Given the description of an element on the screen output the (x, y) to click on. 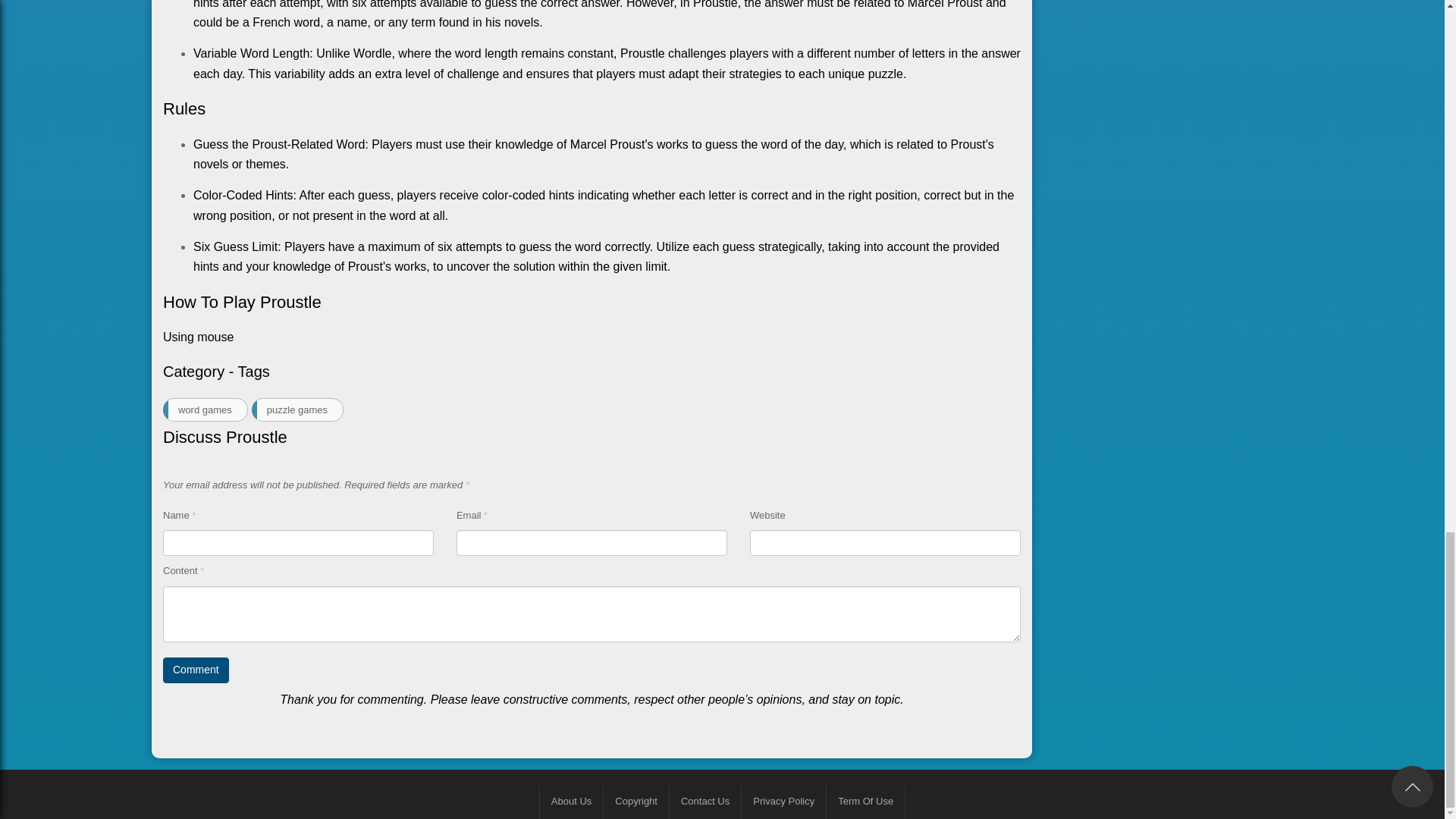
puzzle games (297, 409)
word games (205, 409)
Comment (195, 670)
Comment (195, 670)
